Given the description of an element on the screen output the (x, y) to click on. 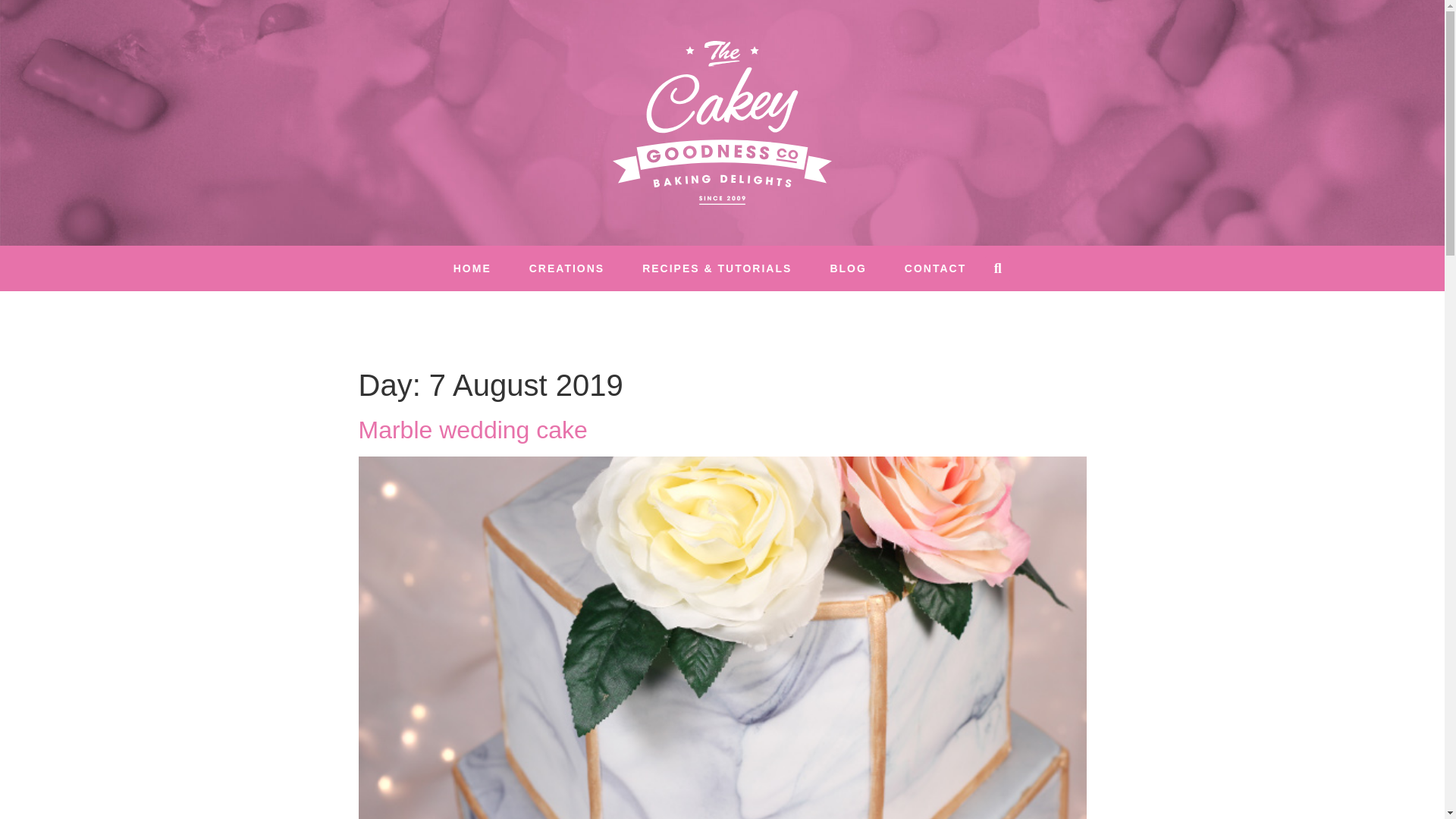
BLOG (847, 268)
HOME (472, 268)
CREATIONS (567, 268)
Marble wedding cake (472, 429)
CONTACT (935, 268)
